Given the description of an element on the screen output the (x, y) to click on. 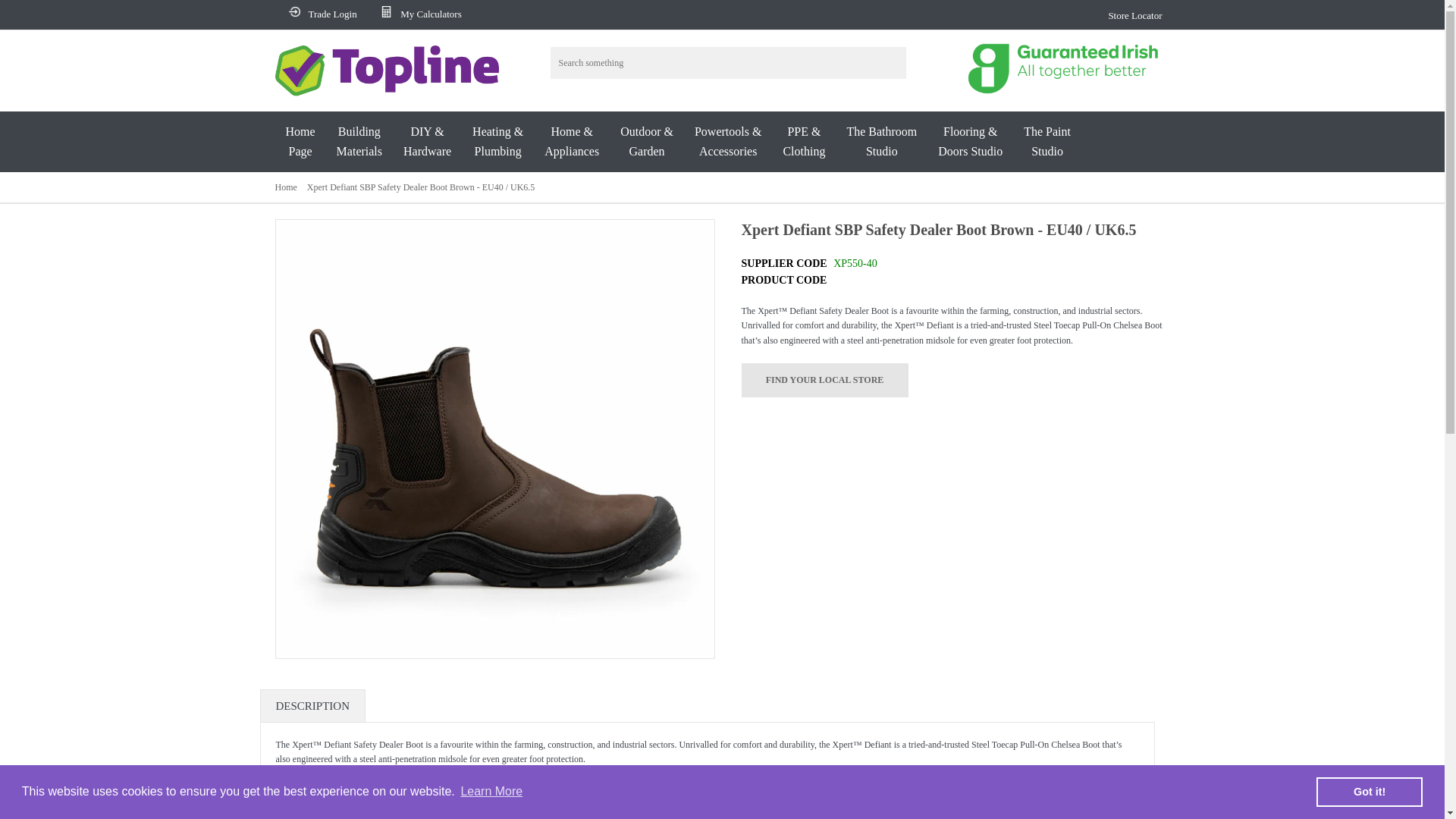
Add and Go to Checkout directly! (824, 380)
Got it! (1369, 791)
My Calculators (418, 13)
Learn More (491, 791)
Store Locator (359, 141)
Trade Login (1130, 15)
Back to the frontpage (319, 13)
